Given the description of an element on the screen output the (x, y) to click on. 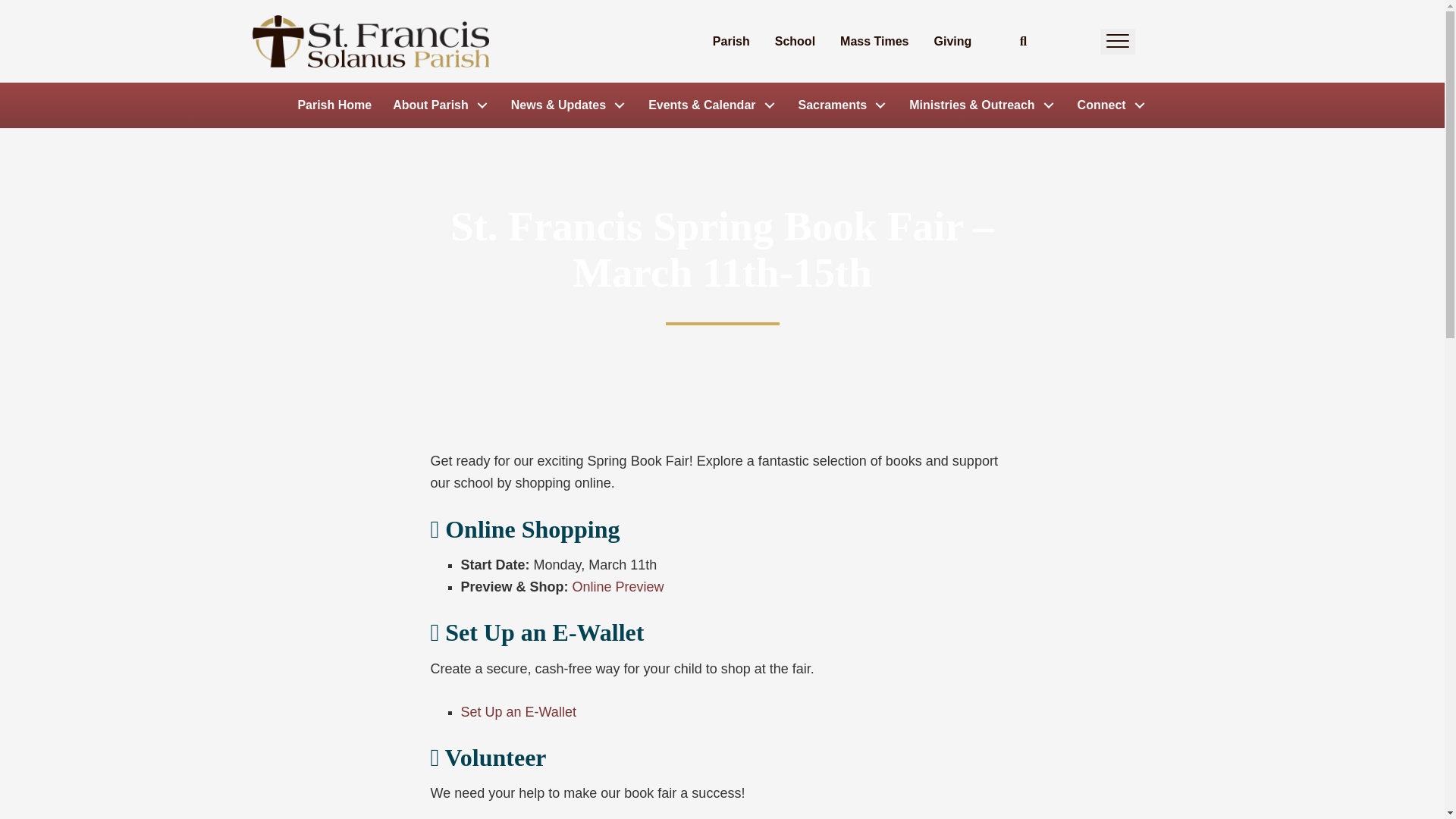
Giving (952, 41)
Mass Times (874, 41)
Parish (730, 41)
School (794, 41)
stf-logo-640-142 (369, 41)
